Given the description of an element on the screen output the (x, y) to click on. 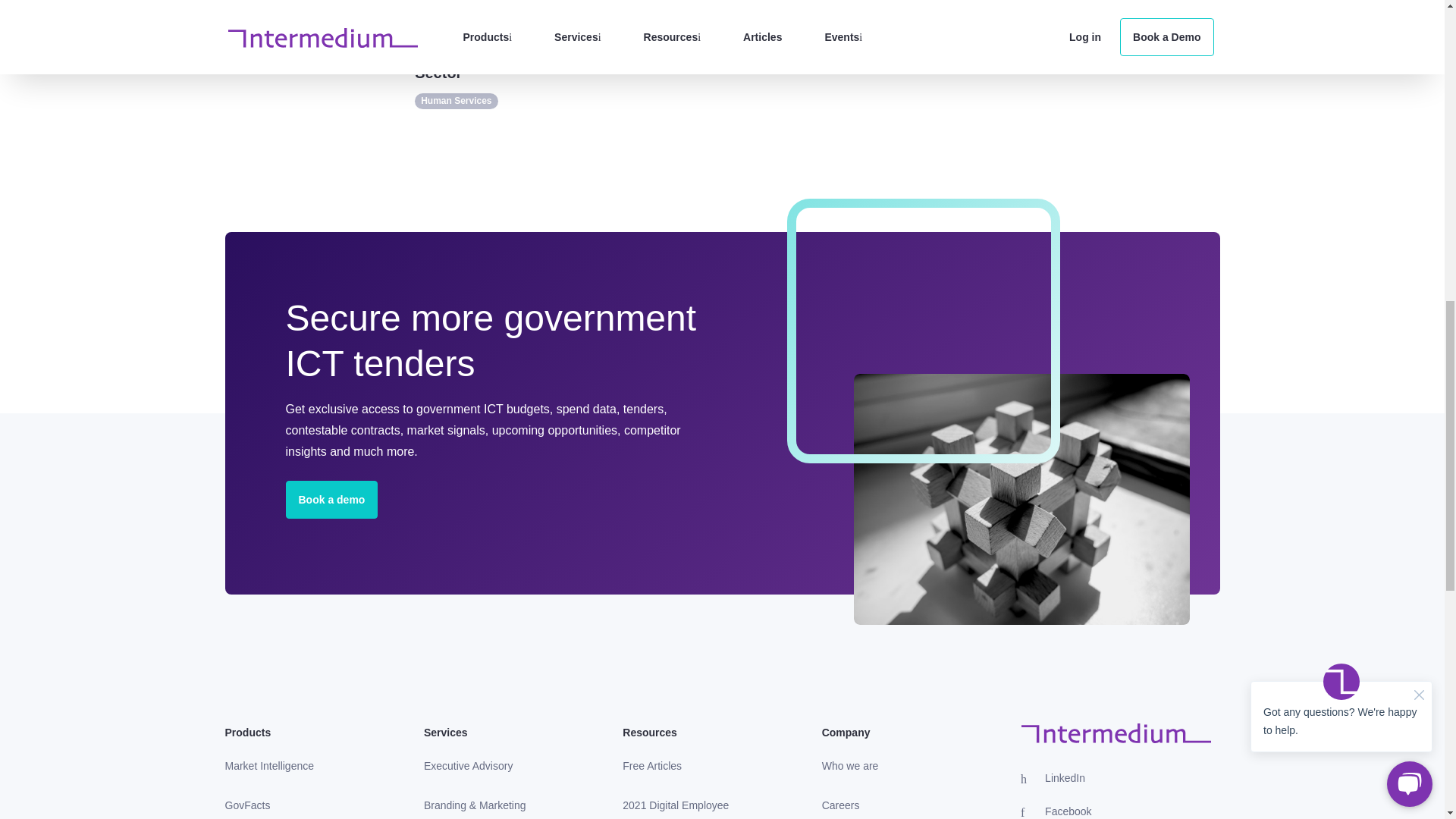
The latest from Intermedium (651, 765)
Assessing public sector employee experience (691, 803)
Centralised market intelligence for suppliers to government (269, 765)
Agency data at federal, state and territory levels (247, 803)
Options to build presence and network with government (474, 803)
Executive insights to guide your business direction (468, 765)
